Given the description of an element on the screen output the (x, y) to click on. 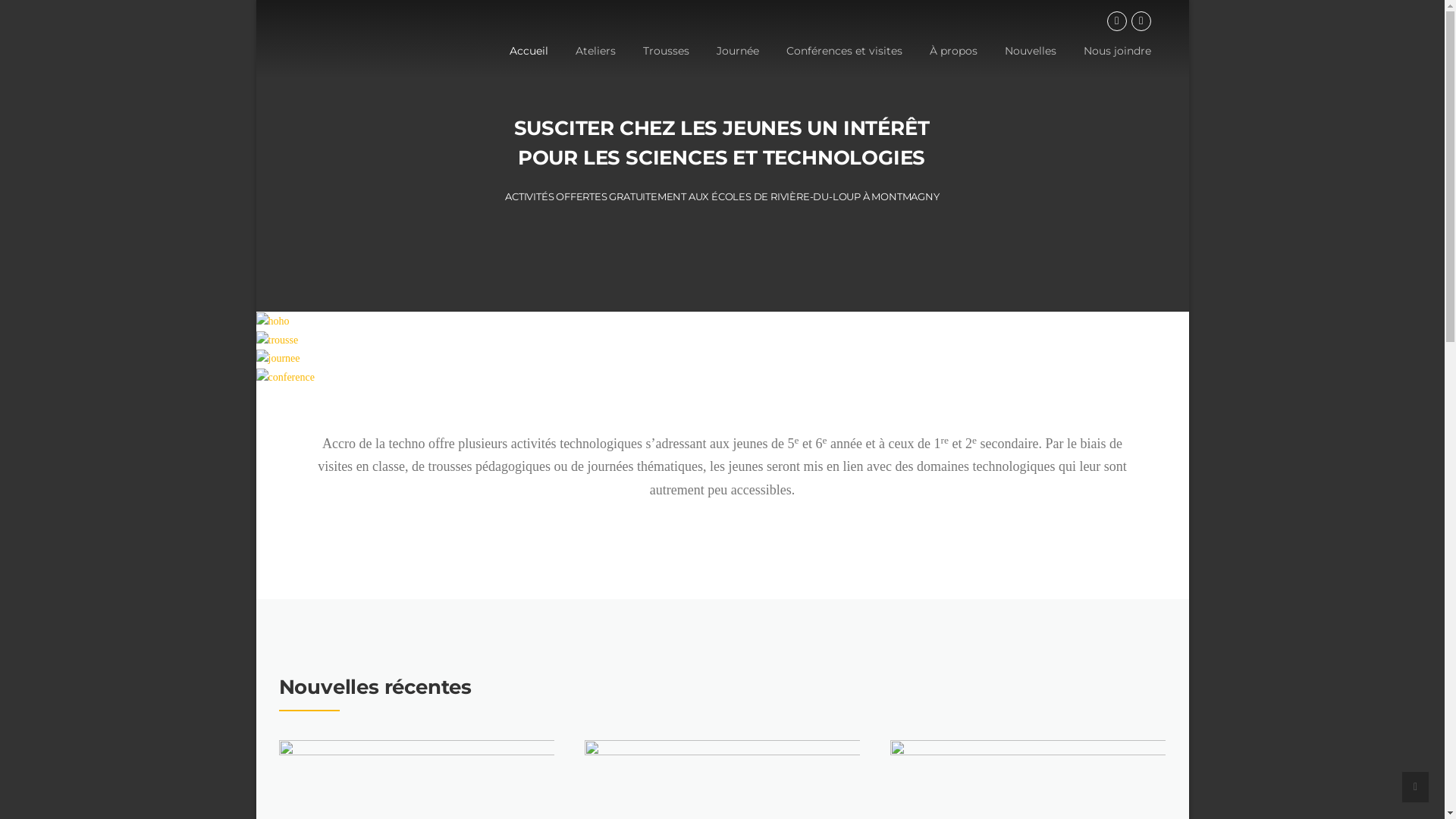
journee Element type: hover (278, 358)
Deux projets pour Accro de la Techno Element type: hover (721, 807)
Email Element type: hover (1141, 20)
hoho Element type: hover (272, 321)
Skip to content Element type: text (256, 0)
Accueil Element type: text (528, 62)
trousse Element type: hover (277, 340)
Nous joindre Element type: text (1109, 62)
Facebook Element type: hover (1116, 20)
Nouvelles Element type: text (1029, 62)
Trousses Element type: text (665, 62)
Ateliers Element type: text (594, 62)
conference Element type: hover (285, 377)
